Given the description of an element on the screen output the (x, y) to click on. 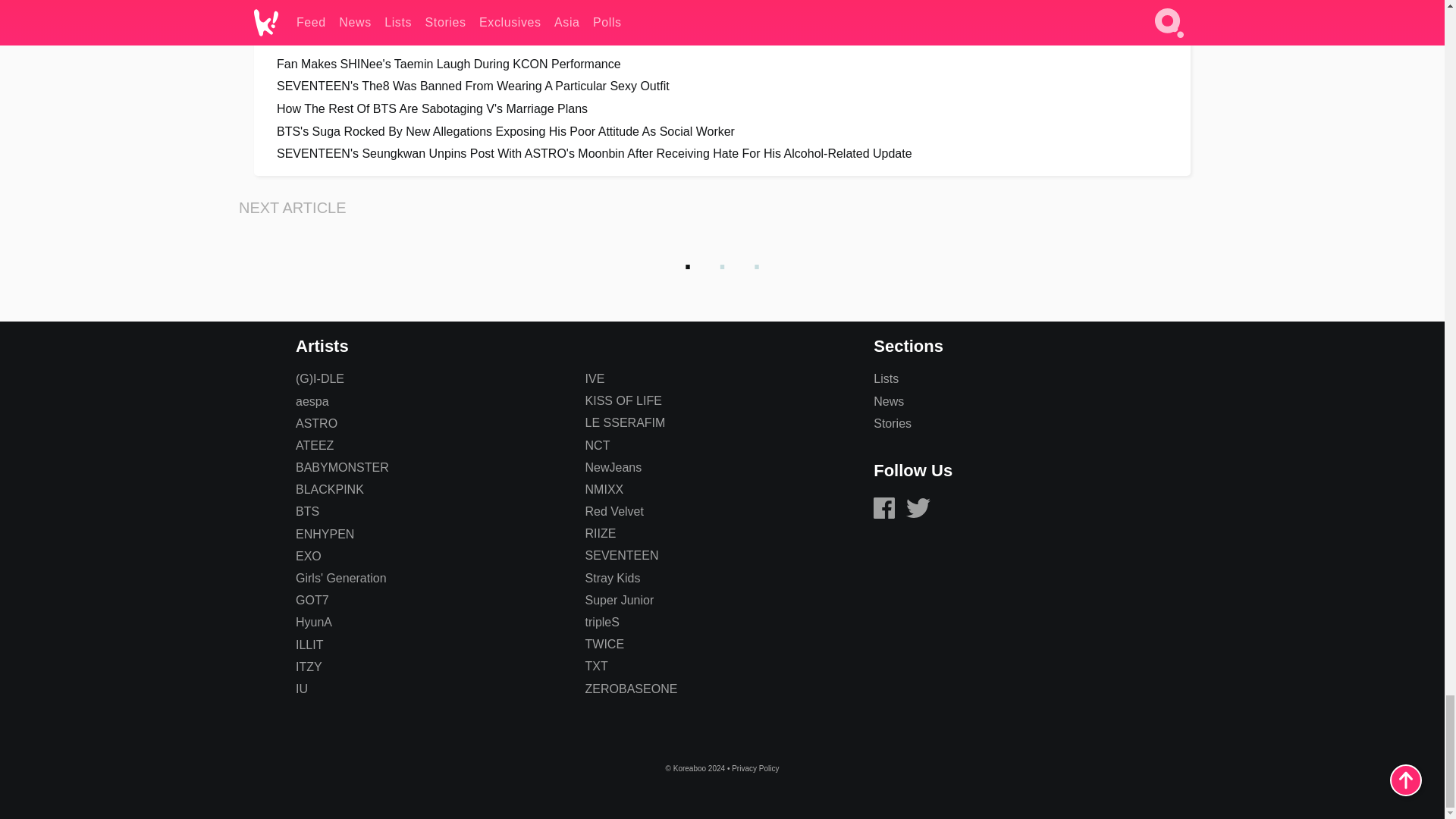
ILLIT (309, 644)
ITZY (308, 666)
ATEEZ (314, 445)
Fan Makes SHINee's Taemin Laugh During KCON Performance (721, 63)
BABYMONSTER (341, 467)
IVE (595, 378)
EXO (308, 555)
ENHYPEN (324, 533)
